Given the description of an element on the screen output the (x, y) to click on. 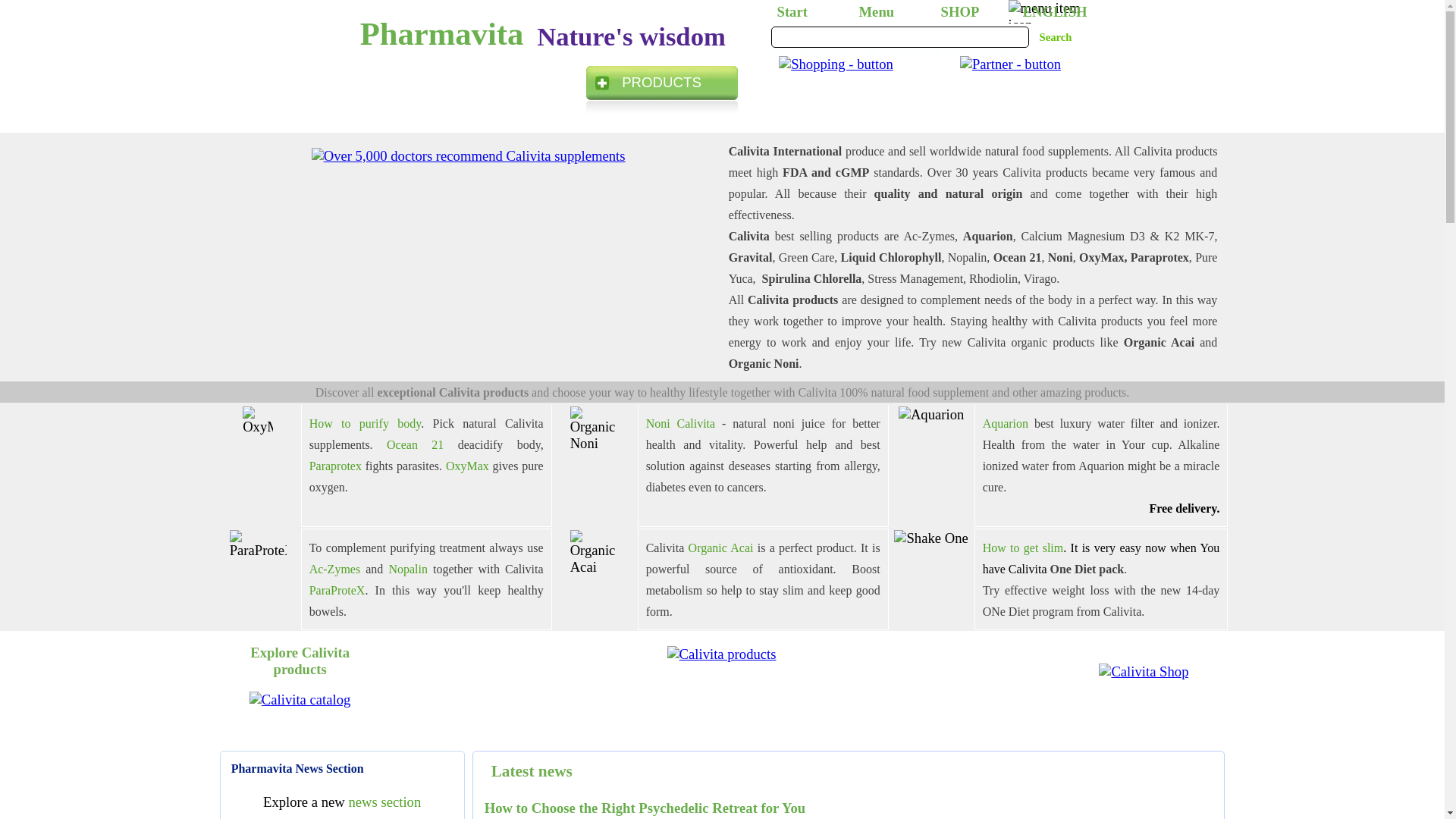
BUY ONLINE (839, 82)
partner - button (1010, 64)
OxyMax (258, 420)
Menu (883, 11)
Organic Noni (595, 429)
Calivita Doctors (468, 156)
products - button (662, 88)
CONTACT (1002, 82)
SHOP (964, 11)
Search (1055, 36)
